Given the description of an element on the screen output the (x, y) to click on. 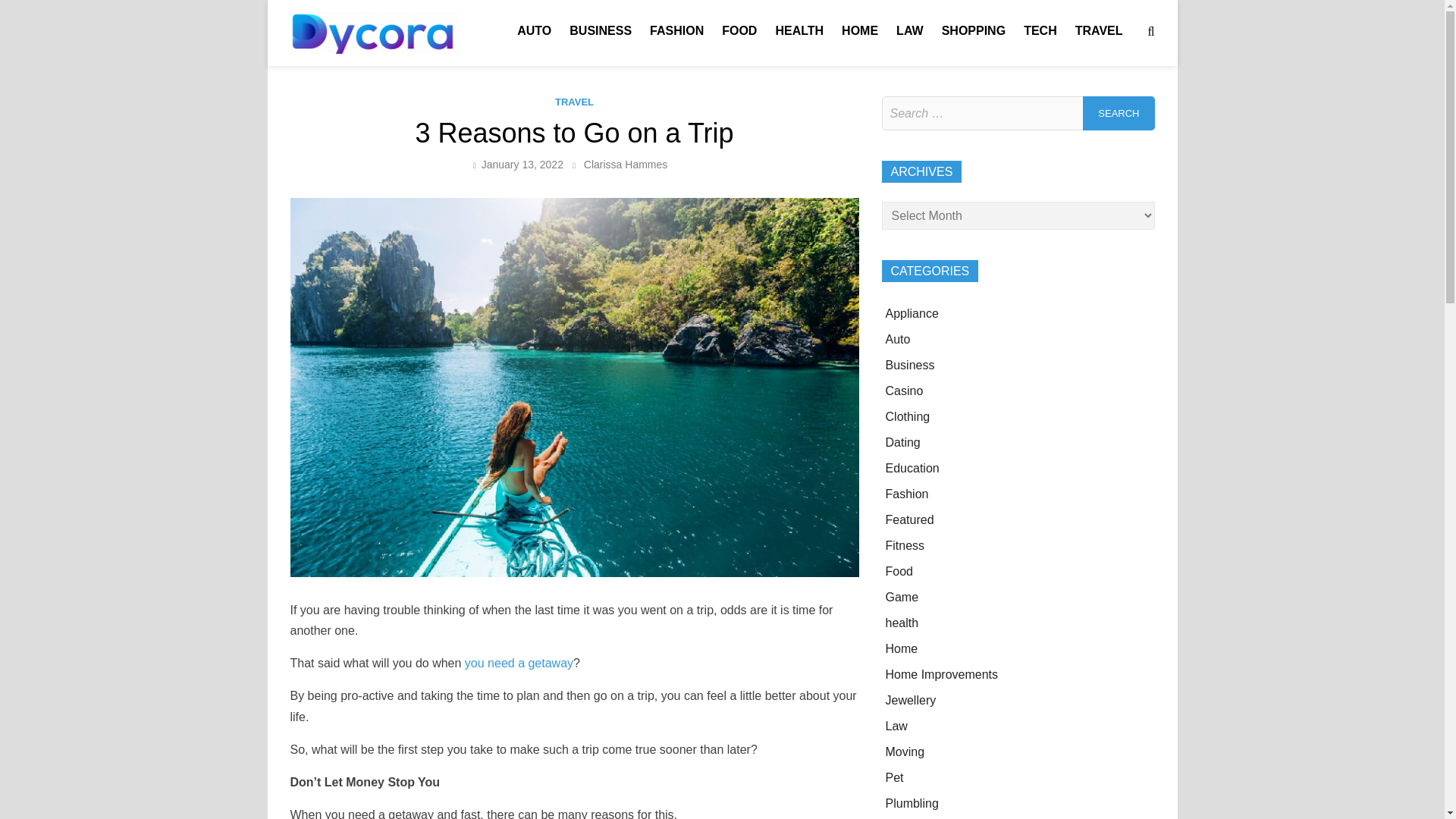
FOOD (739, 30)
Business (909, 364)
you need a getaway (518, 662)
January 13, 2022 (522, 164)
Fashion (906, 493)
TRAVEL (574, 101)
SHOPPING (973, 30)
Featured (909, 519)
TECH (1039, 30)
Clarissa Hammes (624, 164)
